Given the description of an element on the screen output the (x, y) to click on. 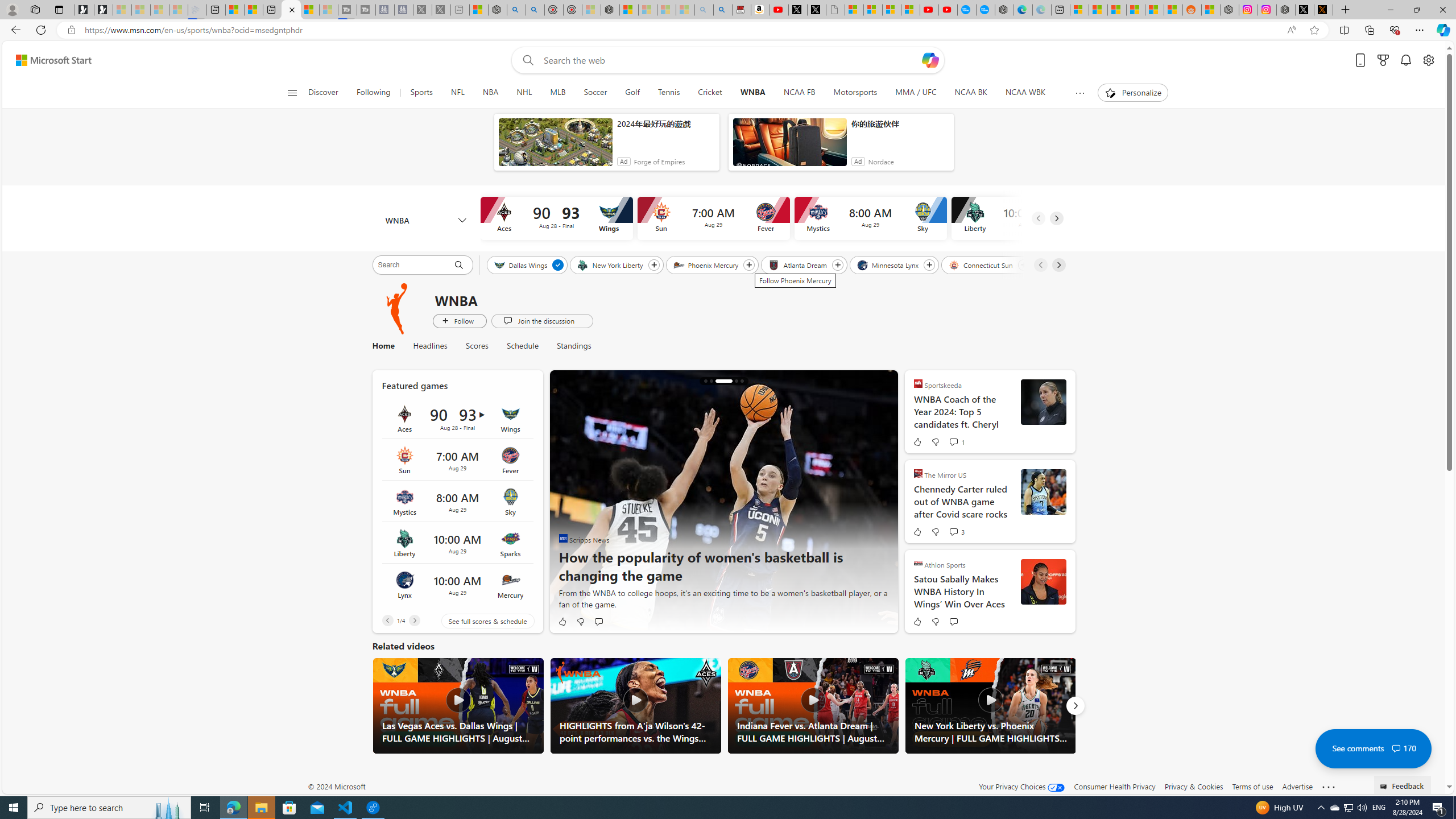
Day 1: Arriving in Yemen (surreal to be here) - YouTube (778, 9)
NHL (523, 92)
Scripps News (563, 537)
Home (387, 345)
Shanghai, China Weather trends | Microsoft Weather (1173, 9)
MLB (557, 92)
Class: button-glyph (292, 92)
Cricket (709, 92)
Like (916, 621)
